Given the description of an element on the screen output the (x, y) to click on. 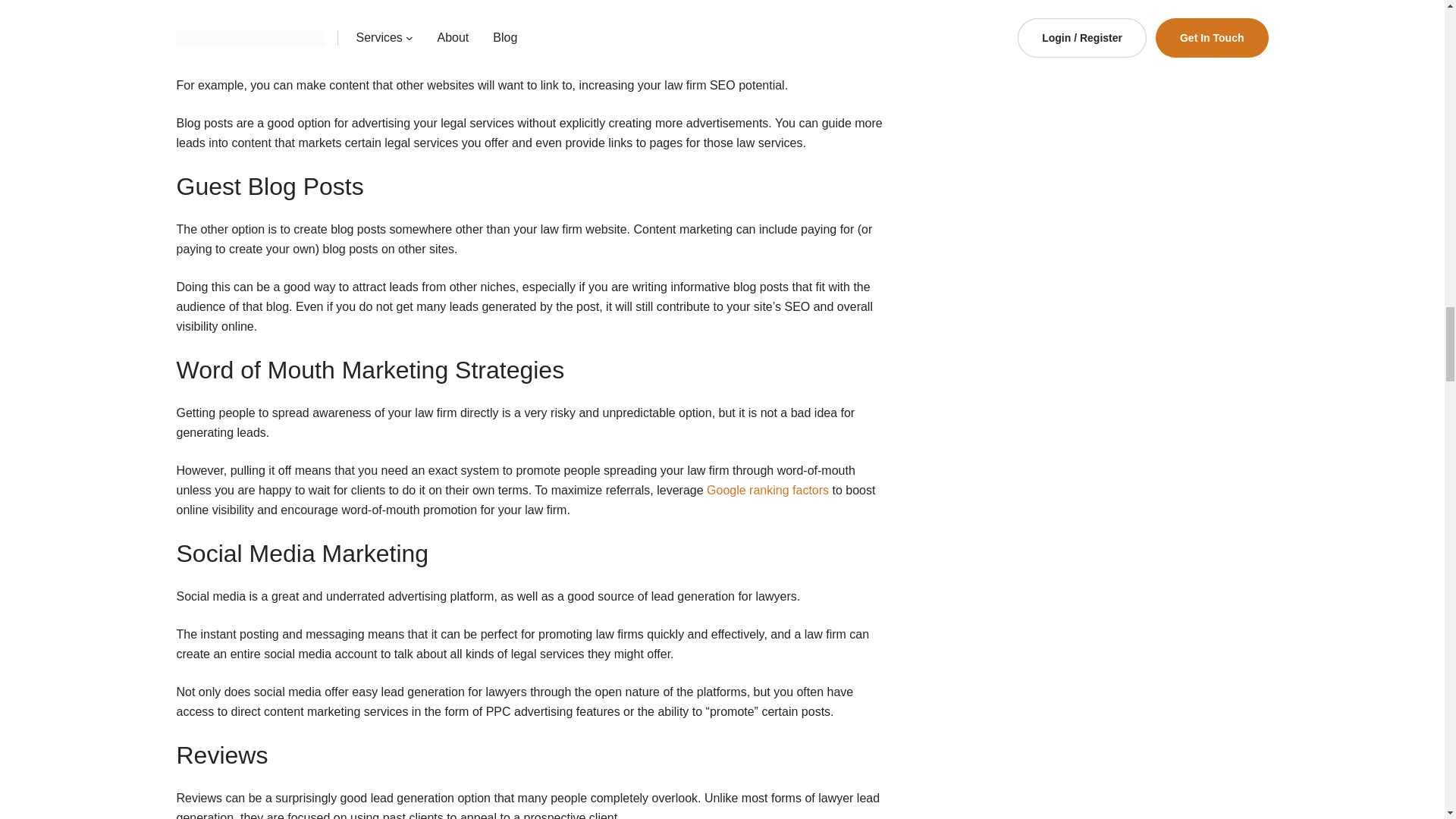
Google ranking factors (767, 490)
